Given the description of an element on the screen output the (x, y) to click on. 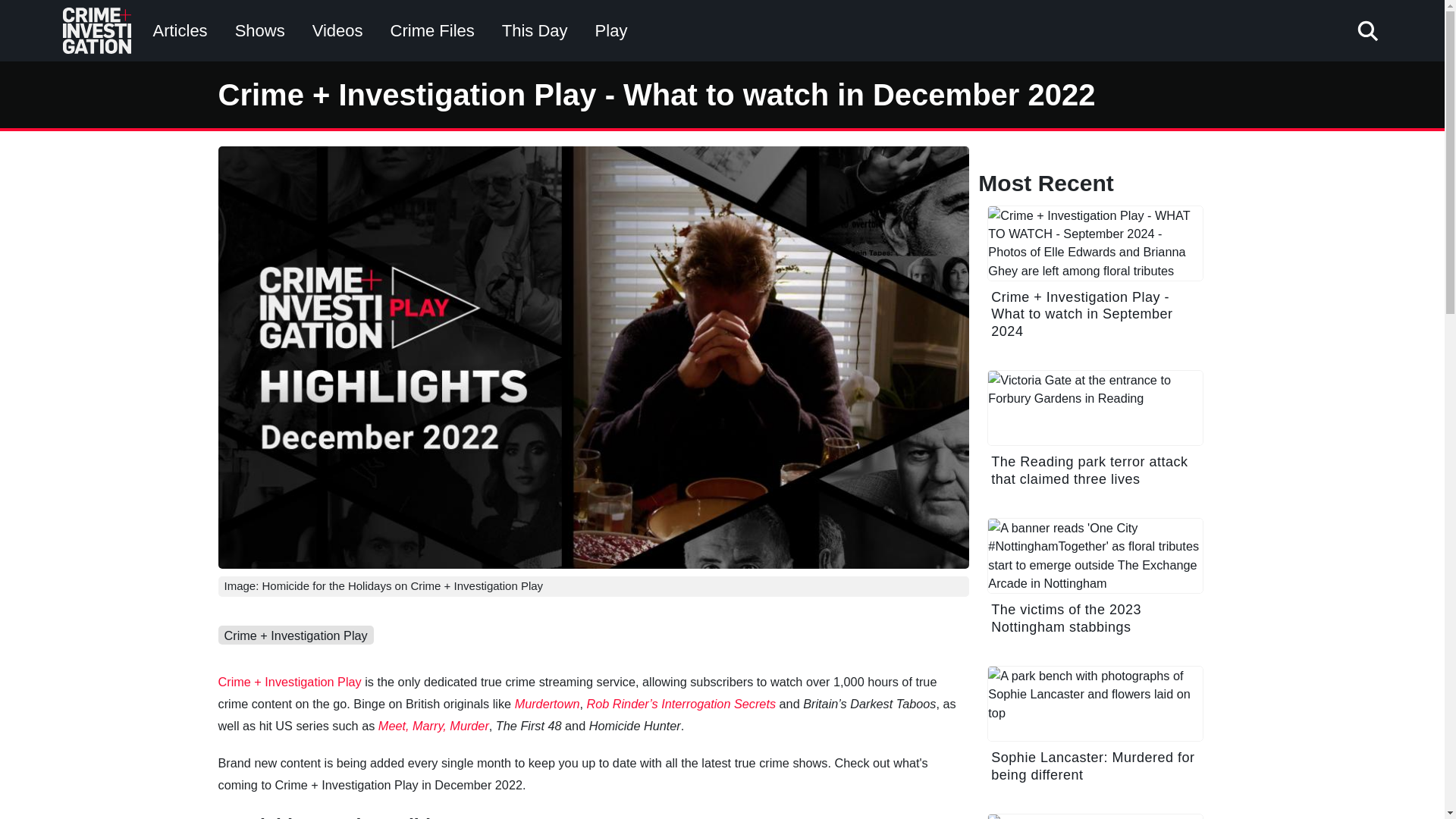
Search (1007, 86)
Murdertown (547, 703)
This Day (534, 30)
Crime Files (432, 30)
Shows (259, 30)
Sophie Lancaster: Murdered for being different (1095, 731)
Articles (180, 30)
The Reading park terror attack that claimed three lives (1095, 436)
Videos (337, 30)
The double-murderer who terrified North London (1095, 816)
